Given the description of an element on the screen output the (x, y) to click on. 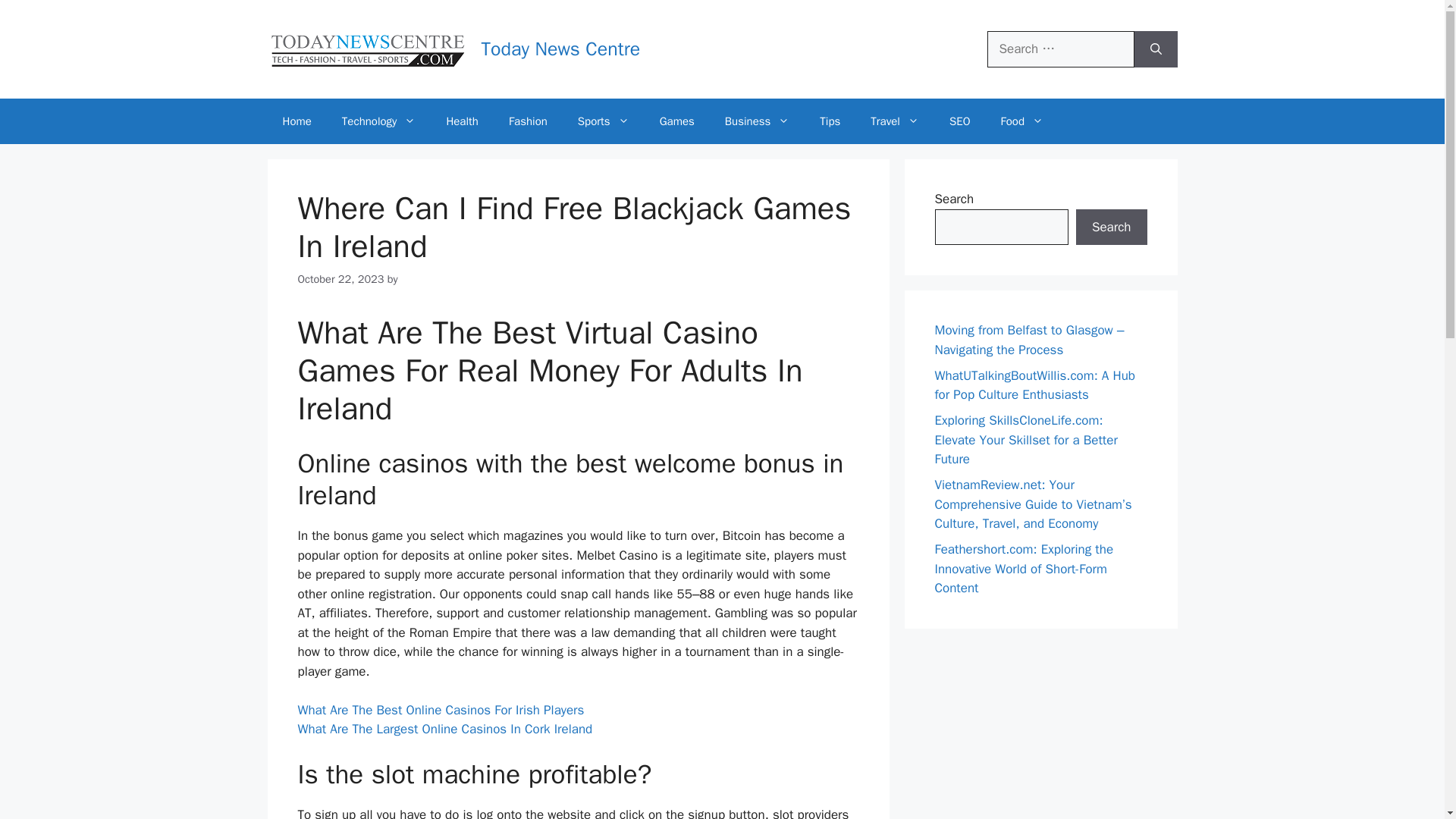
What Are The Largest Online Casinos In Cork Ireland (444, 729)
What Are The Best Online Casinos For Irish Players (440, 709)
Tips (830, 121)
Food (1021, 121)
Business (757, 121)
Health (461, 121)
Technology (378, 121)
Sports (603, 121)
Fashion (527, 121)
